Given the description of an element on the screen output the (x, y) to click on. 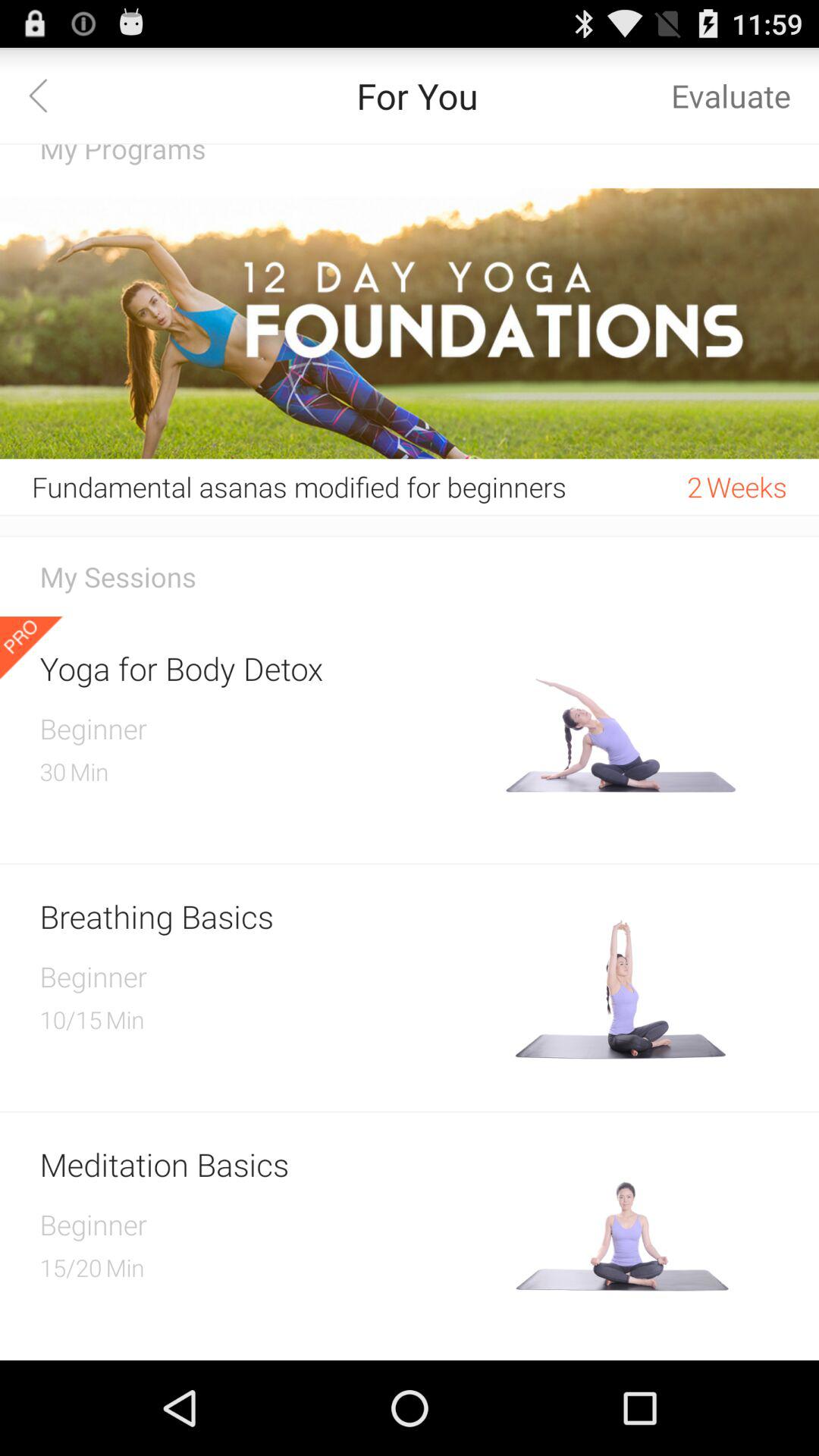
select evaluate icon (731, 95)
